Given the description of an element on the screen output the (x, y) to click on. 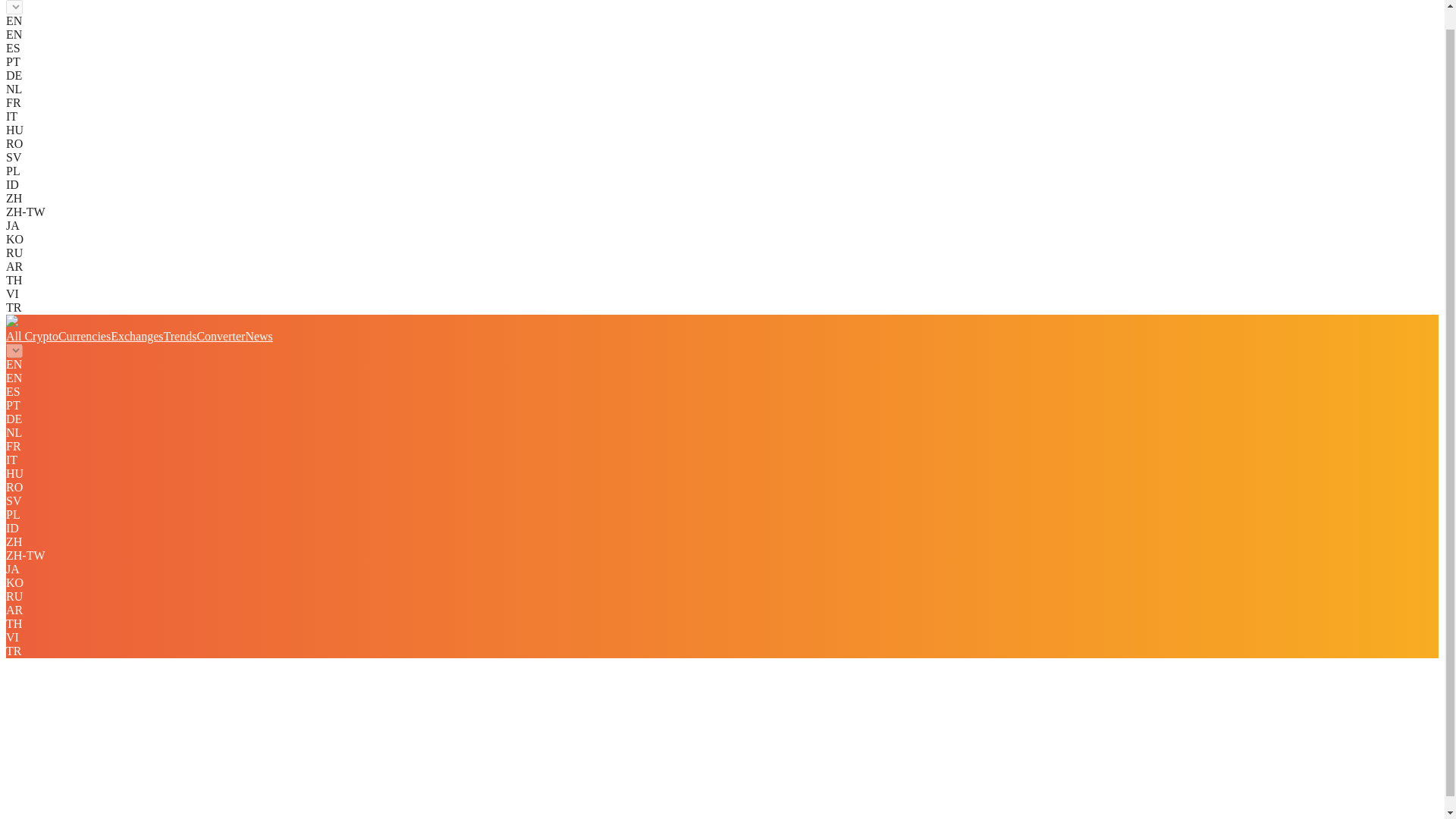
News (258, 336)
Trends (179, 336)
Exchanges (136, 336)
All CryptoCurrencies (57, 336)
Converter (220, 336)
